Given the description of an element on the screen output the (x, y) to click on. 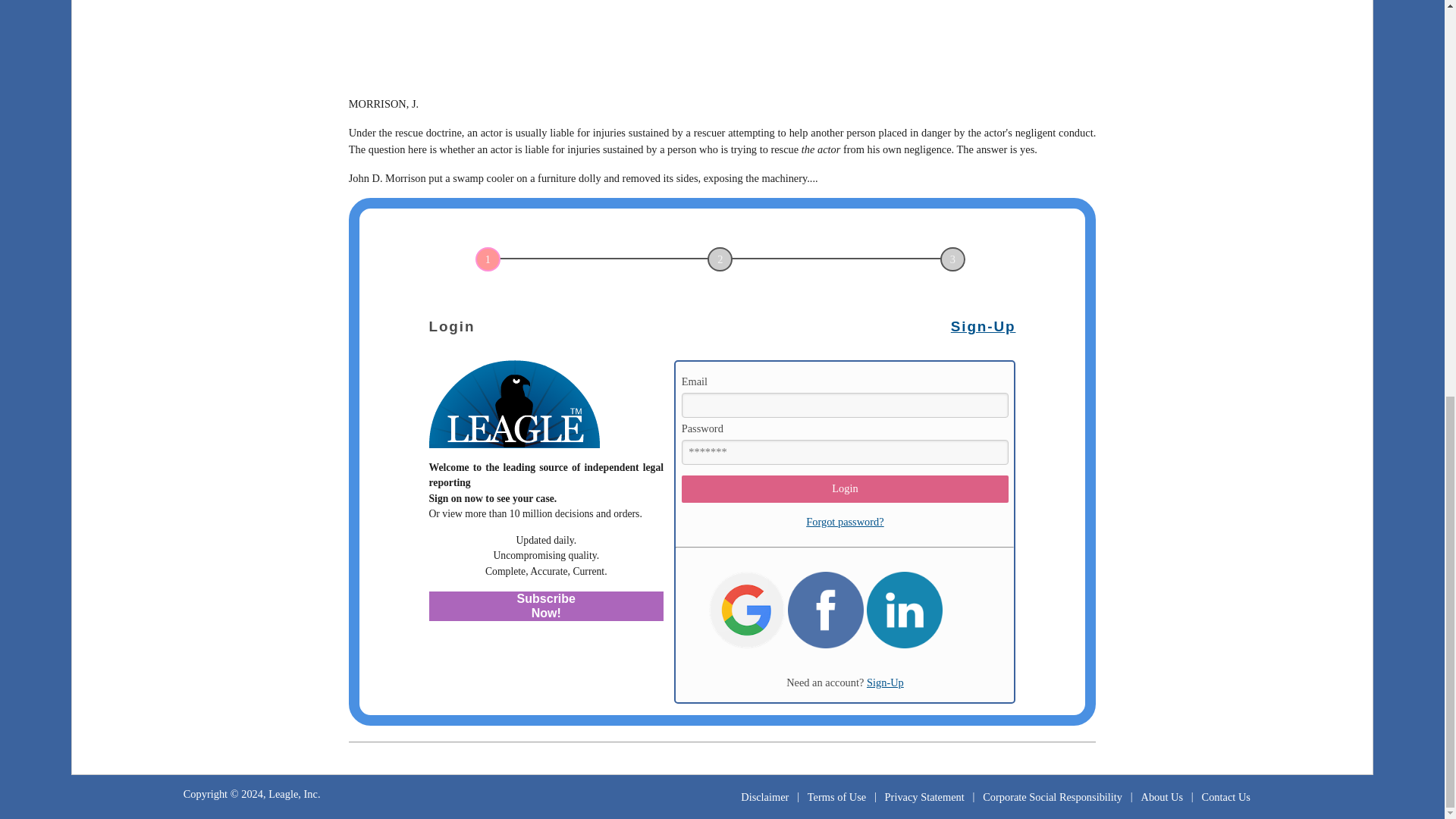
Contact Us (1225, 796)
Corporate Social Responsibility (1052, 796)
Sign-Up (885, 682)
Forgot password? (844, 521)
Privacy Statement (924, 796)
Sign-Up (983, 326)
Terms of Use (837, 796)
About Us (1162, 796)
Disclaimer (765, 796)
Login (845, 488)
Advertisement (722, 42)
